Given the description of an element on the screen output the (x, y) to click on. 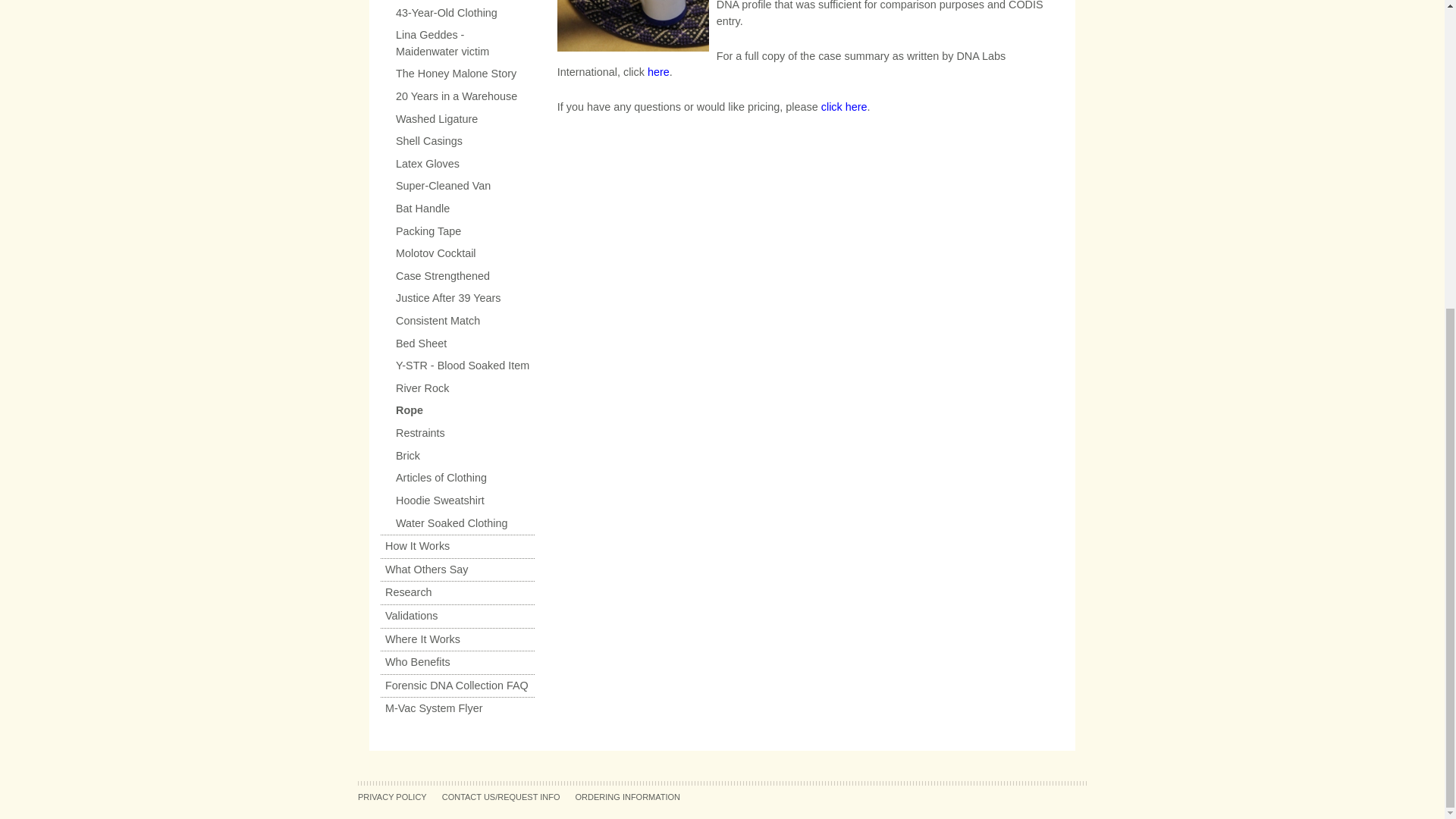
Bat Handle (457, 209)
Case Summary - Rope (658, 71)
The Honey Malone Story (457, 74)
Washed Ligature (457, 119)
43-Year-Old Clothing (457, 12)
20 Years in a Warehouse (457, 96)
Brick (457, 456)
Hoodie Sweatshirt (457, 500)
Water Soaked Clothing (457, 523)
